Given the description of an element on the screen output the (x, y) to click on. 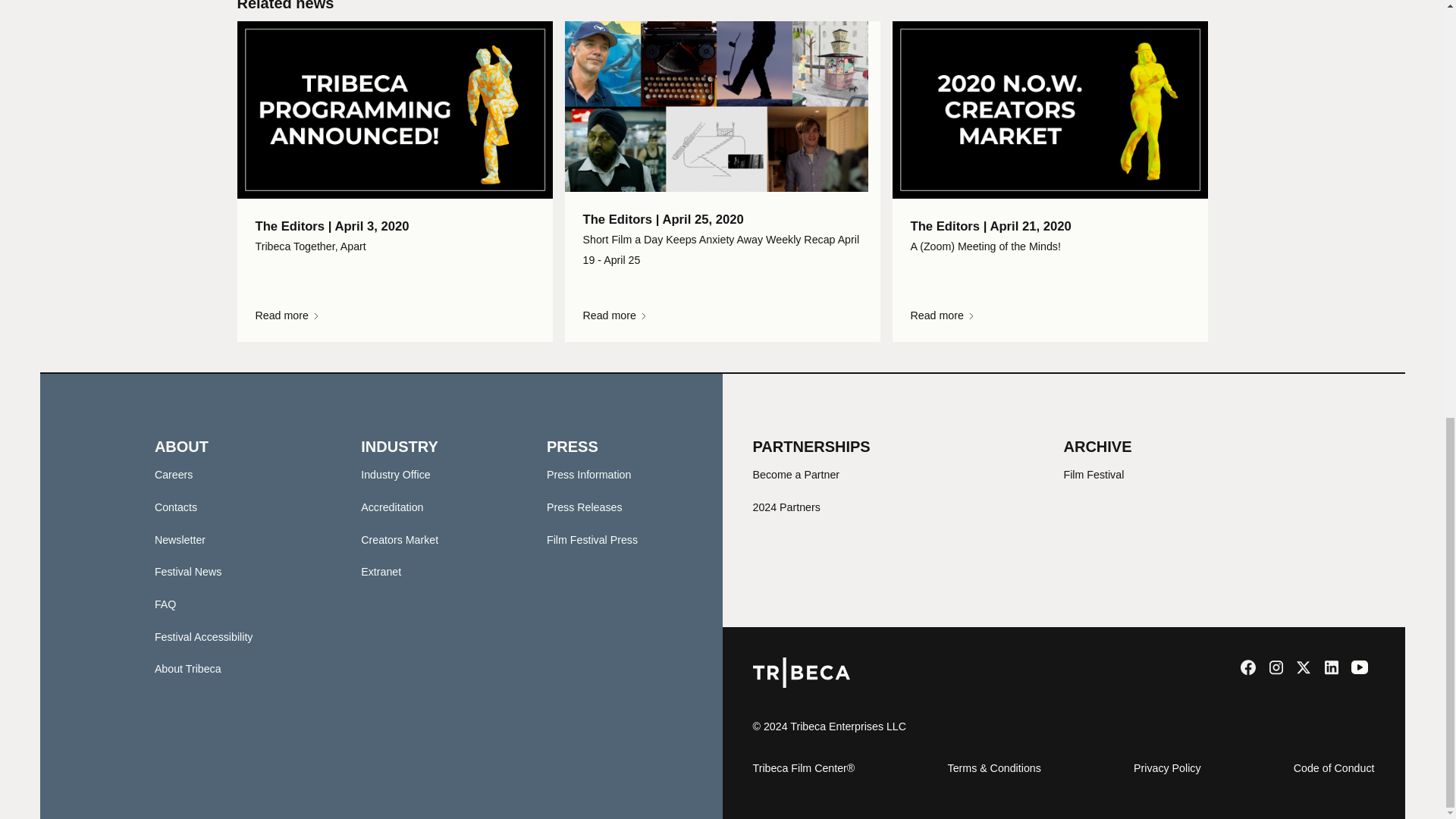
Festival News (188, 571)
About Tribeca (187, 668)
Careers (173, 474)
Read more (393, 316)
Read more (1049, 316)
Read more (721, 316)
Contacts (175, 507)
FAQ (165, 604)
Newsletter (179, 539)
Creators Market (399, 539)
